Given the description of an element on the screen output the (x, y) to click on. 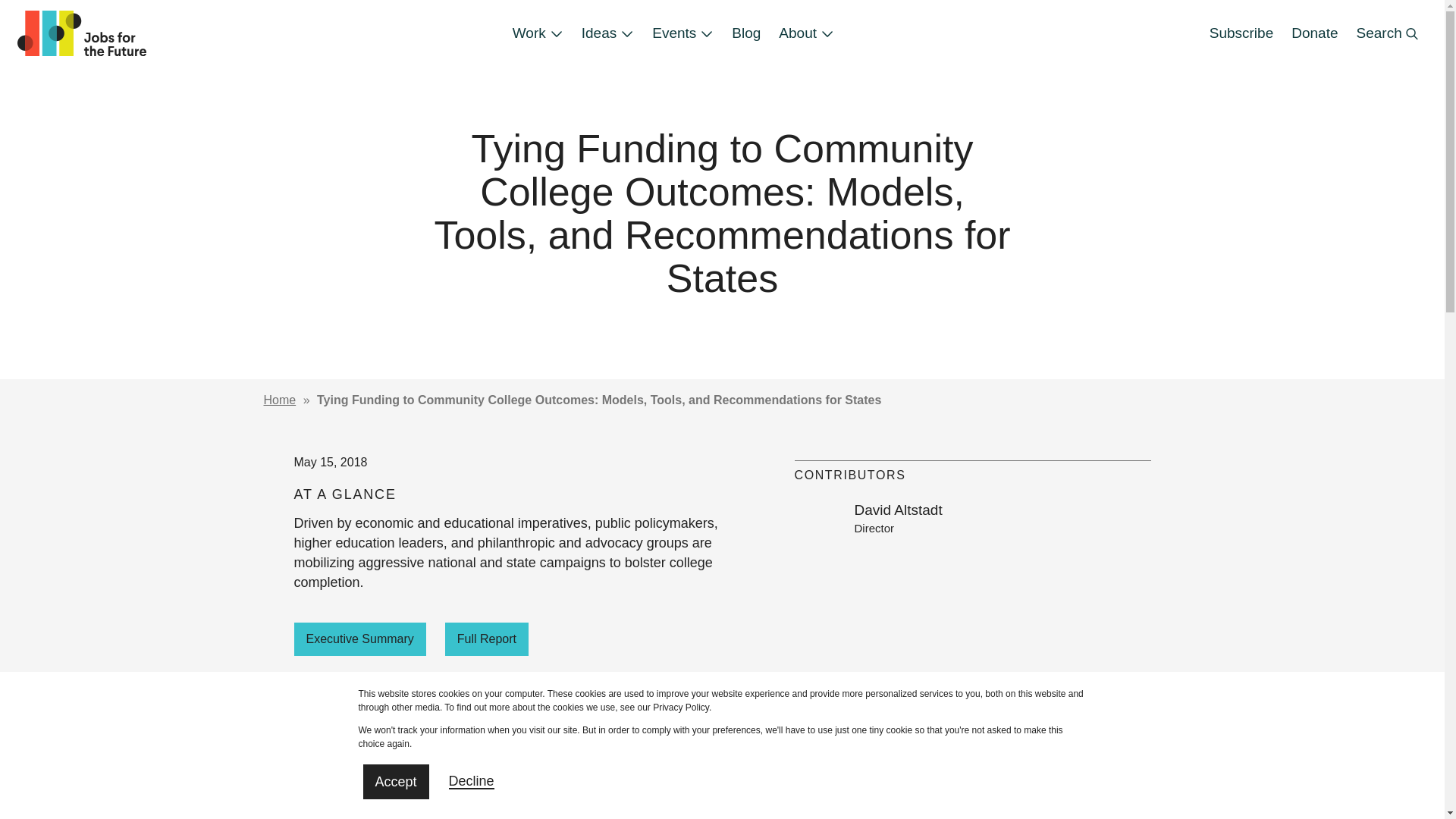
Decline (471, 781)
Events (682, 33)
About (806, 33)
Work (537, 33)
Accept (395, 781)
Ideas (607, 33)
